Given the description of an element on the screen output the (x, y) to click on. 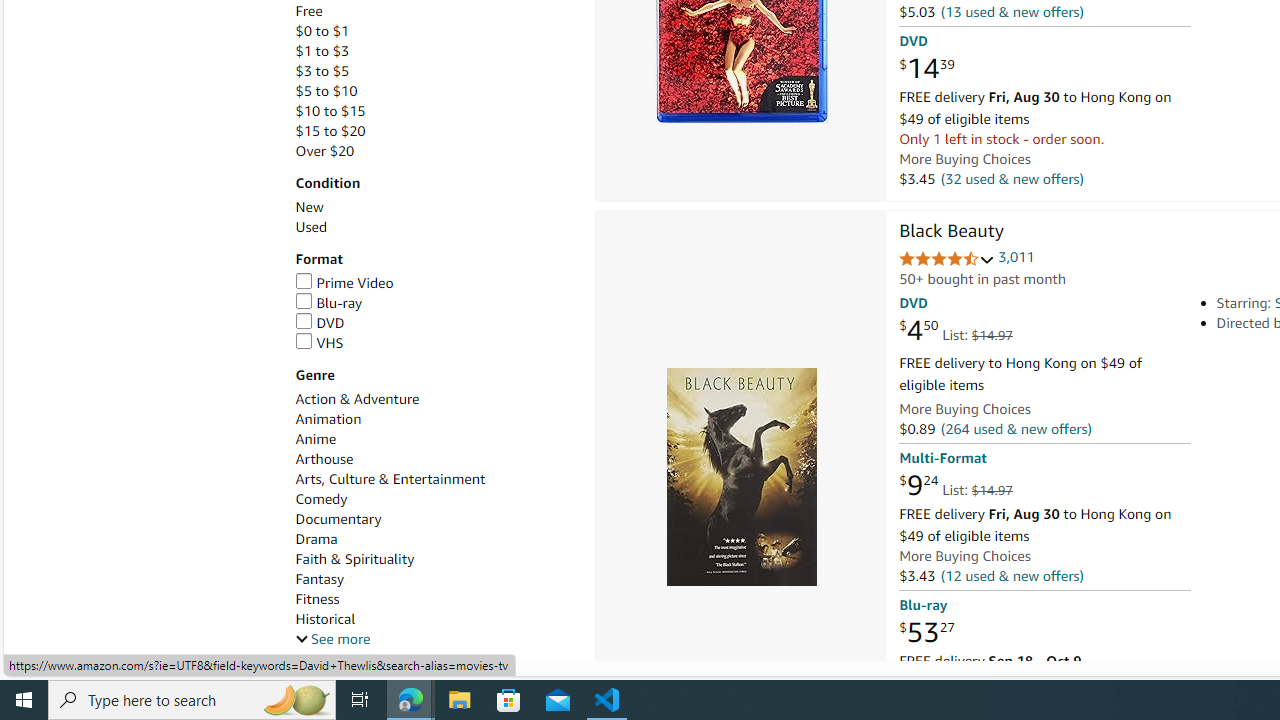
$15 to $20 (434, 131)
$10 to $15 (330, 111)
Fantasy (434, 579)
Arthouse (324, 459)
$15 to $20 (330, 131)
Arthouse (434, 459)
Anime (315, 439)
VHS (319, 342)
$3 to $5 (321, 70)
Used (434, 227)
Arts, Culture & Entertainment (434, 479)
Black Beauty (951, 232)
3,011 (1016, 257)
Faith & Spirituality (354, 559)
(13 used & new offers) (1011, 12)
